Given the description of an element on the screen output the (x, y) to click on. 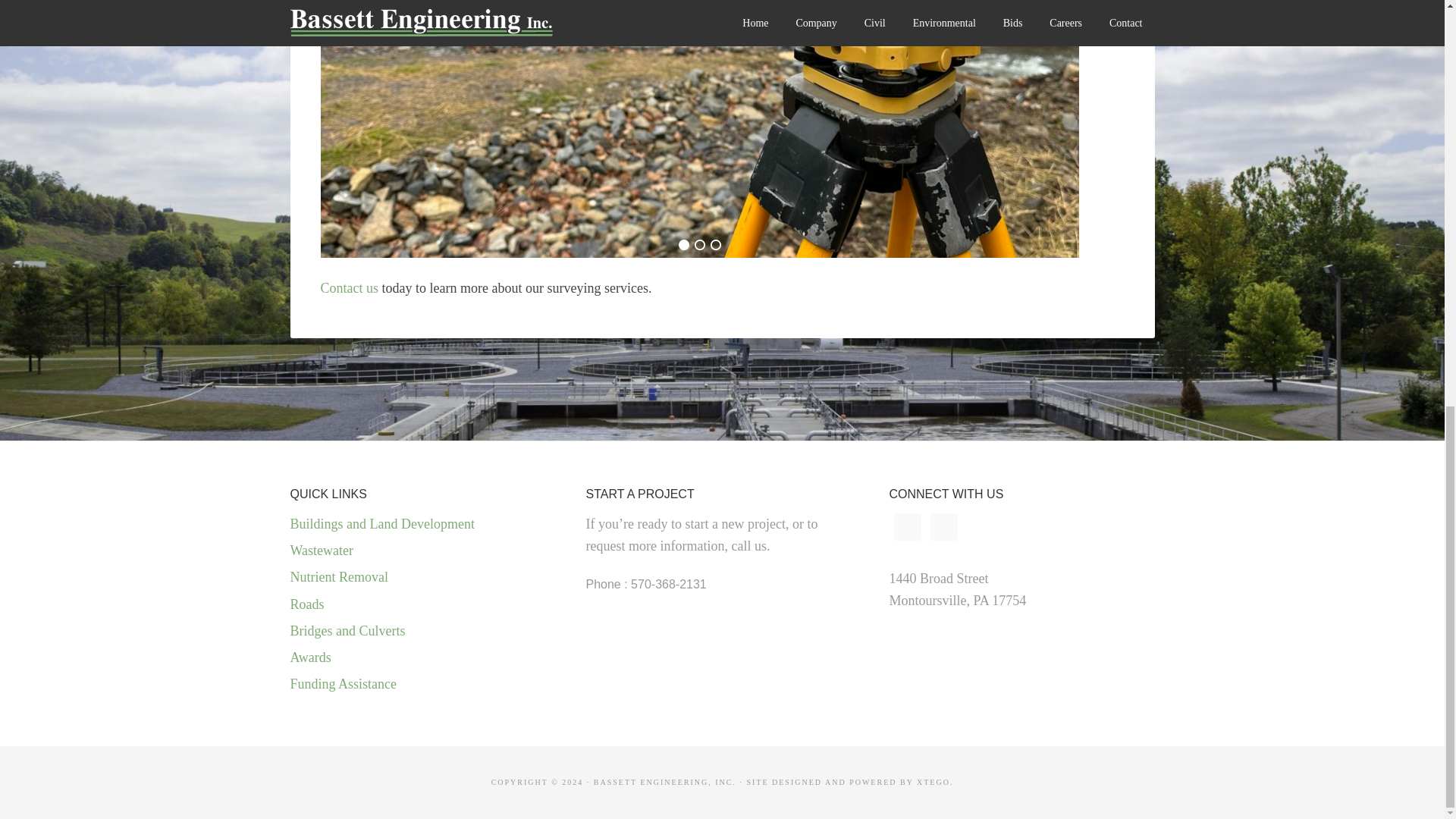
Nutrient Removal (338, 576)
XTEGO (933, 782)
Funding Assistance (342, 683)
Wastewater (321, 549)
Contact us (349, 287)
Bridges and Culverts (346, 630)
Roads (306, 604)
Awards (309, 657)
Buildings and Land Development (381, 523)
